Given the description of an element on the screen output the (x, y) to click on. 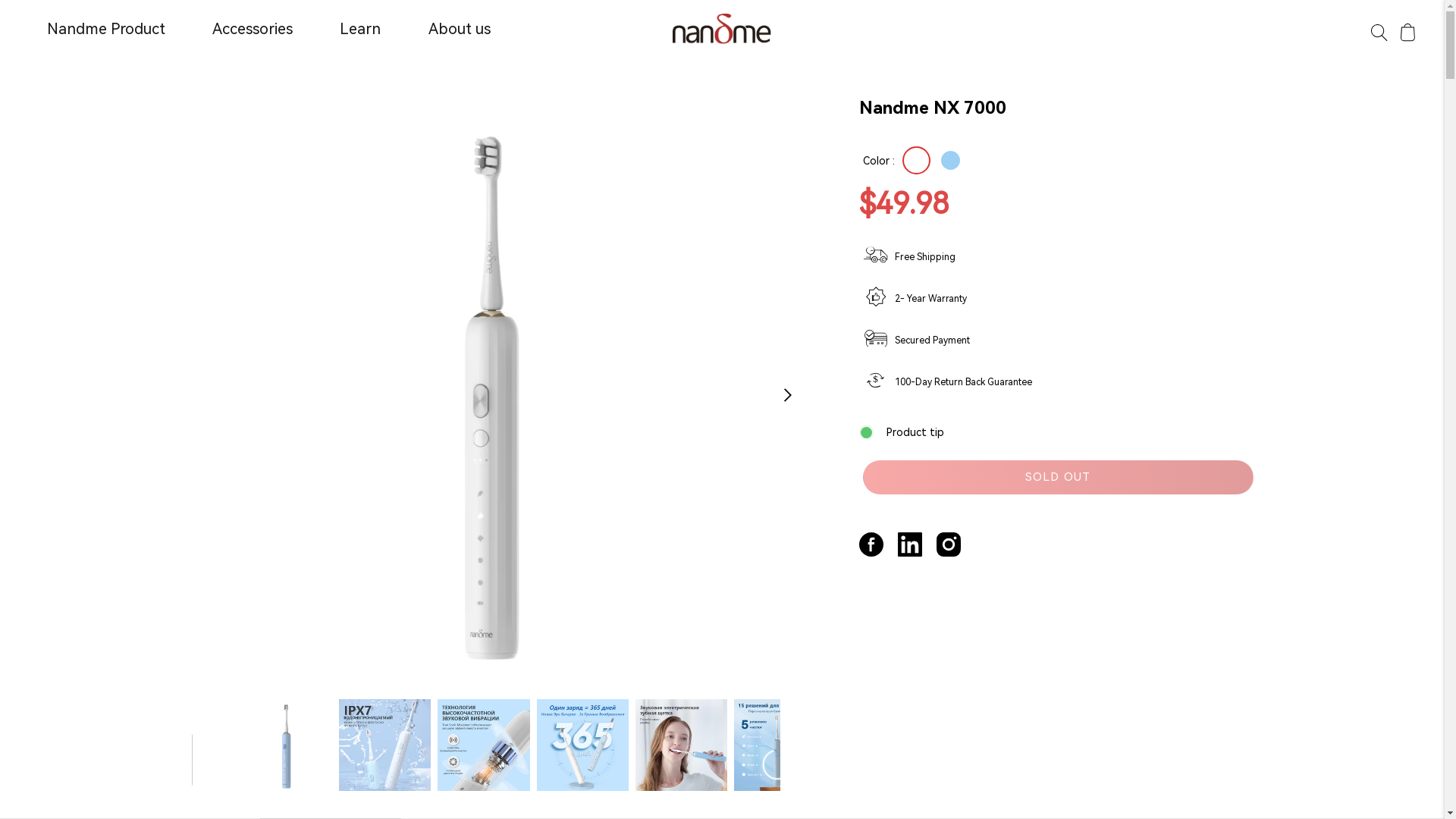
Nandme Product Element type: text (105, 29)
Accessories Element type: text (252, 29)
Cart Element type: text (1407, 34)
About us Element type: text (459, 29)
Learn Element type: text (360, 29)
Search Element type: text (1379, 33)
SOLD OUT Element type: text (1057, 476)
